Given the description of an element on the screen output the (x, y) to click on. 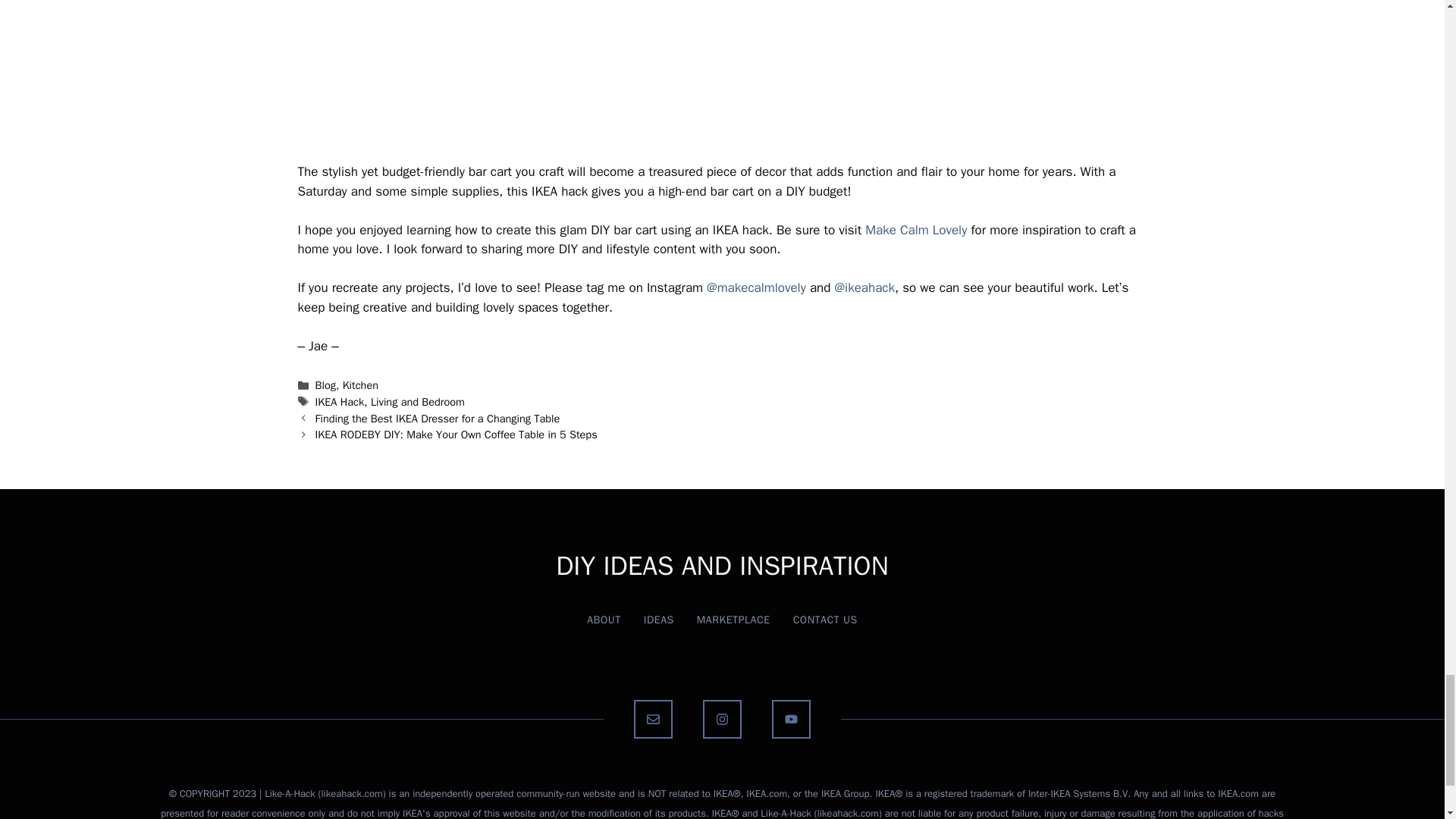
MARKETPLACE (733, 619)
Kitchen (360, 385)
IDEAS (658, 619)
CONTACT US (825, 619)
IKEA RODEBY DIY: Make Your Own Coffee Table in 5 Steps (455, 434)
Blog (325, 385)
Living and Bedroom (417, 401)
Finding the Best IKEA Dresser for a Changing Table (437, 418)
ABOUT (603, 619)
IKEA Hack (340, 401)
